Given the description of an element on the screen output the (x, y) to click on. 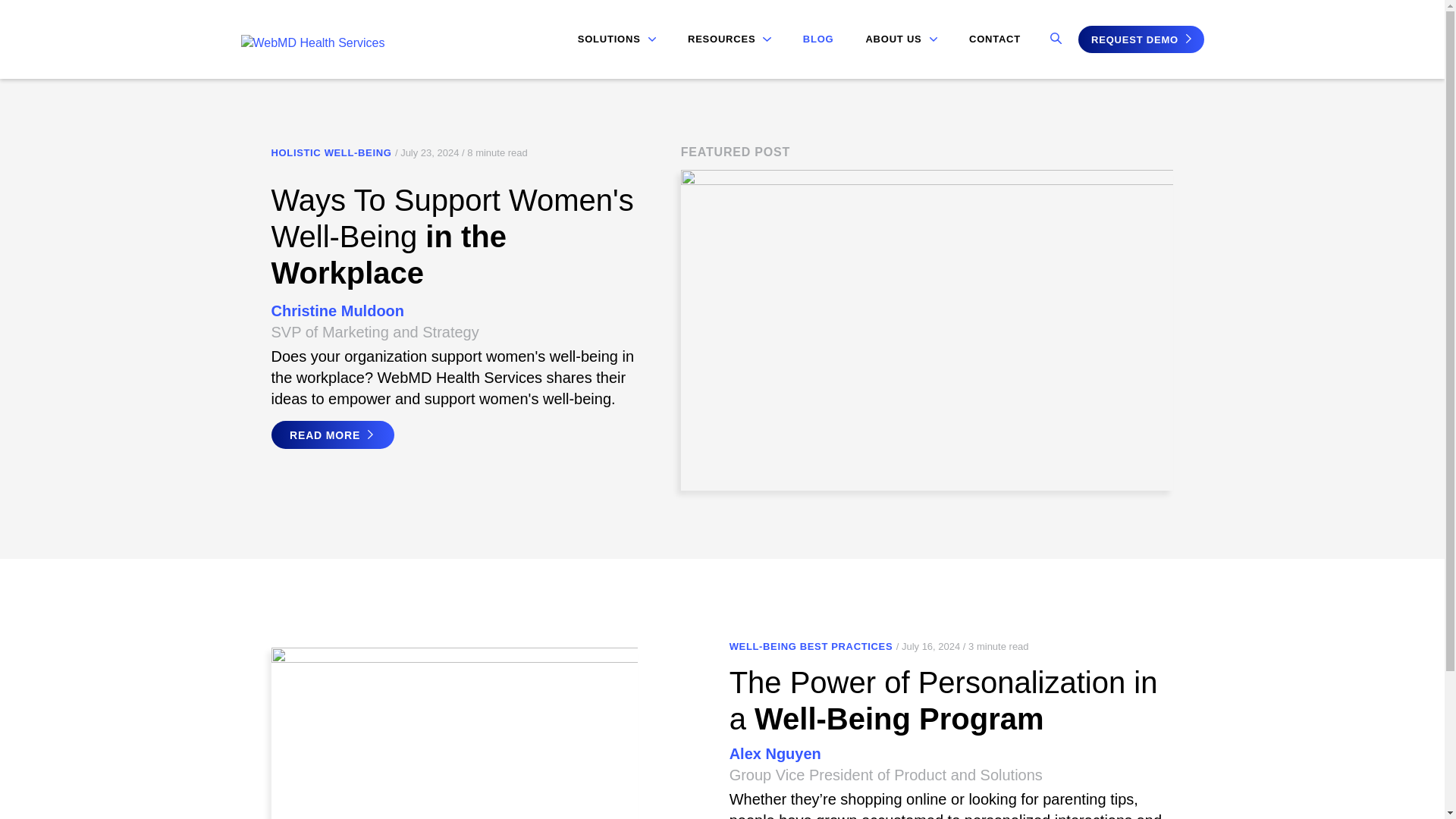
RESOURCES (729, 39)
CONTACT (994, 39)
Christine Muldoon (337, 311)
REQUEST DEMO (1141, 39)
READ MORE (332, 434)
Posts by Christine Muldoon (337, 311)
ABOUT US (900, 39)
The Power of Personalization in a Well-Being Program (943, 700)
Alex Nguyen (775, 753)
SOLUTIONS (616, 39)
Posts by Alex Nguyen (775, 753)
Ways To Support Women's Well-Being in the Workplace (451, 236)
WebMD Health Services (313, 42)
WELL-BEING BEST PRACTICES (811, 646)
HOLISTIC WELL-BEING (330, 152)
